Given the description of an element on the screen output the (x, y) to click on. 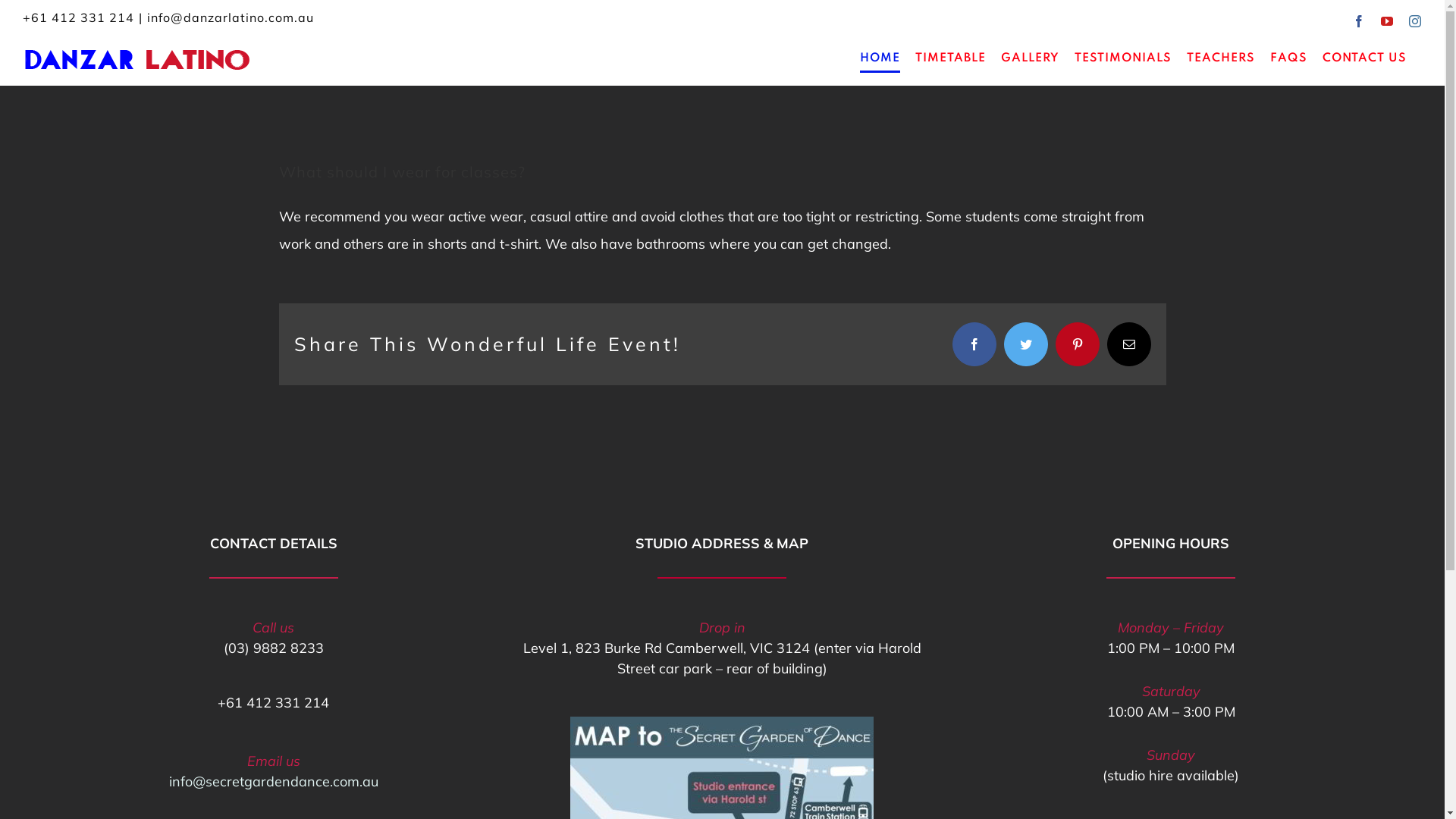
Facebook Element type: text (974, 344)
YouTube Element type: text (1386, 21)
Pinterest Element type: text (1077, 344)
Email Element type: text (1129, 344)
Facebook Element type: text (1358, 21)
TESTIMONIALS Element type: text (1122, 58)
TIMETABLE Element type: text (950, 58)
TEACHERS Element type: text (1220, 58)
HOME Element type: text (879, 58)
info@danzarlatino.com.au Element type: text (230, 17)
info@secretgardendance.com.au Element type: text (273, 781)
GALLERY Element type: text (1030, 58)
Twitter Element type: text (1026, 344)
CONTACT US Element type: text (1364, 58)
Instagram Element type: text (1414, 21)
FAQS Element type: text (1288, 58)
